Given the description of an element on the screen output the (x, y) to click on. 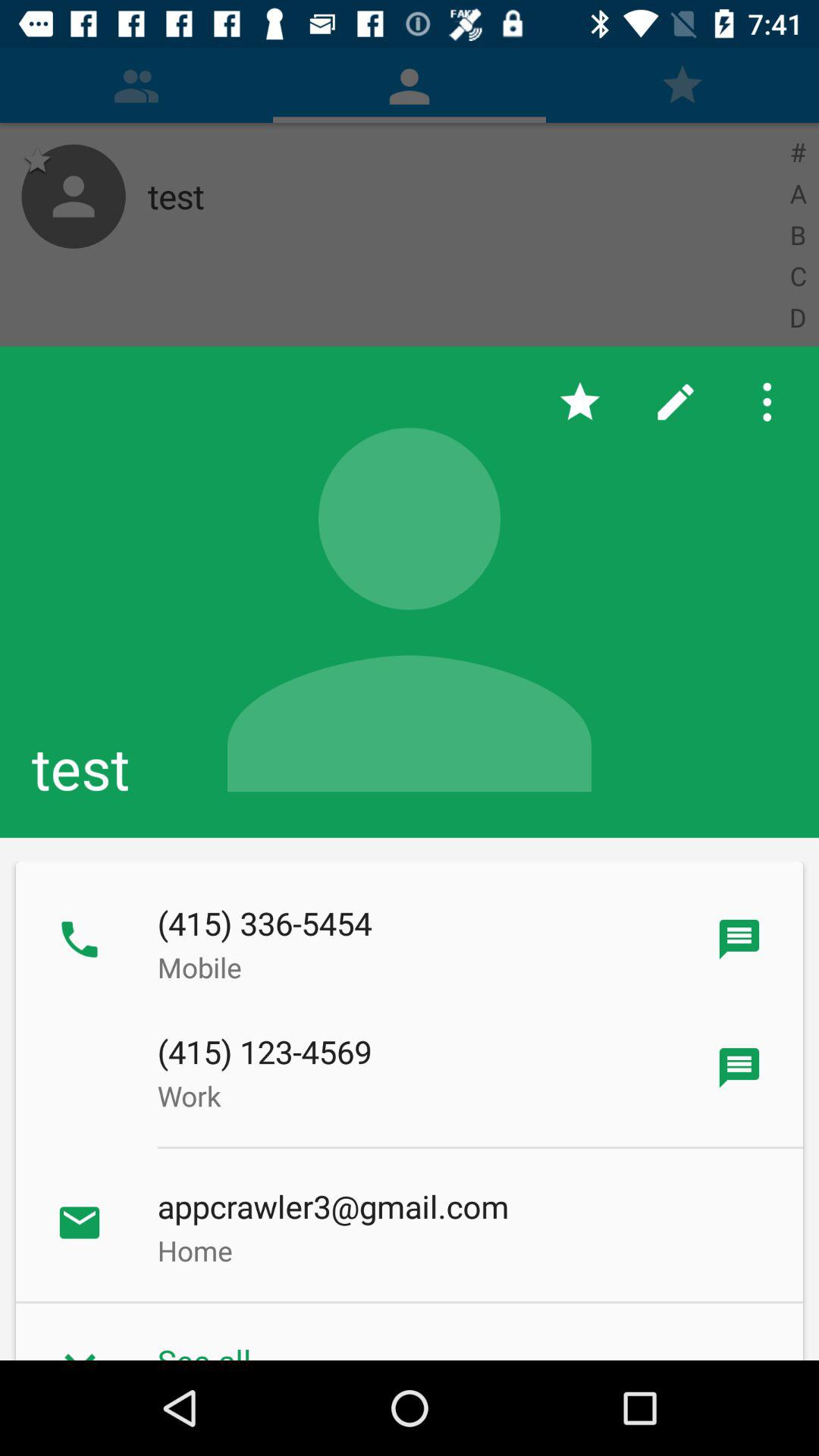
choose the app above test icon (579, 401)
